Given the description of an element on the screen output the (x, y) to click on. 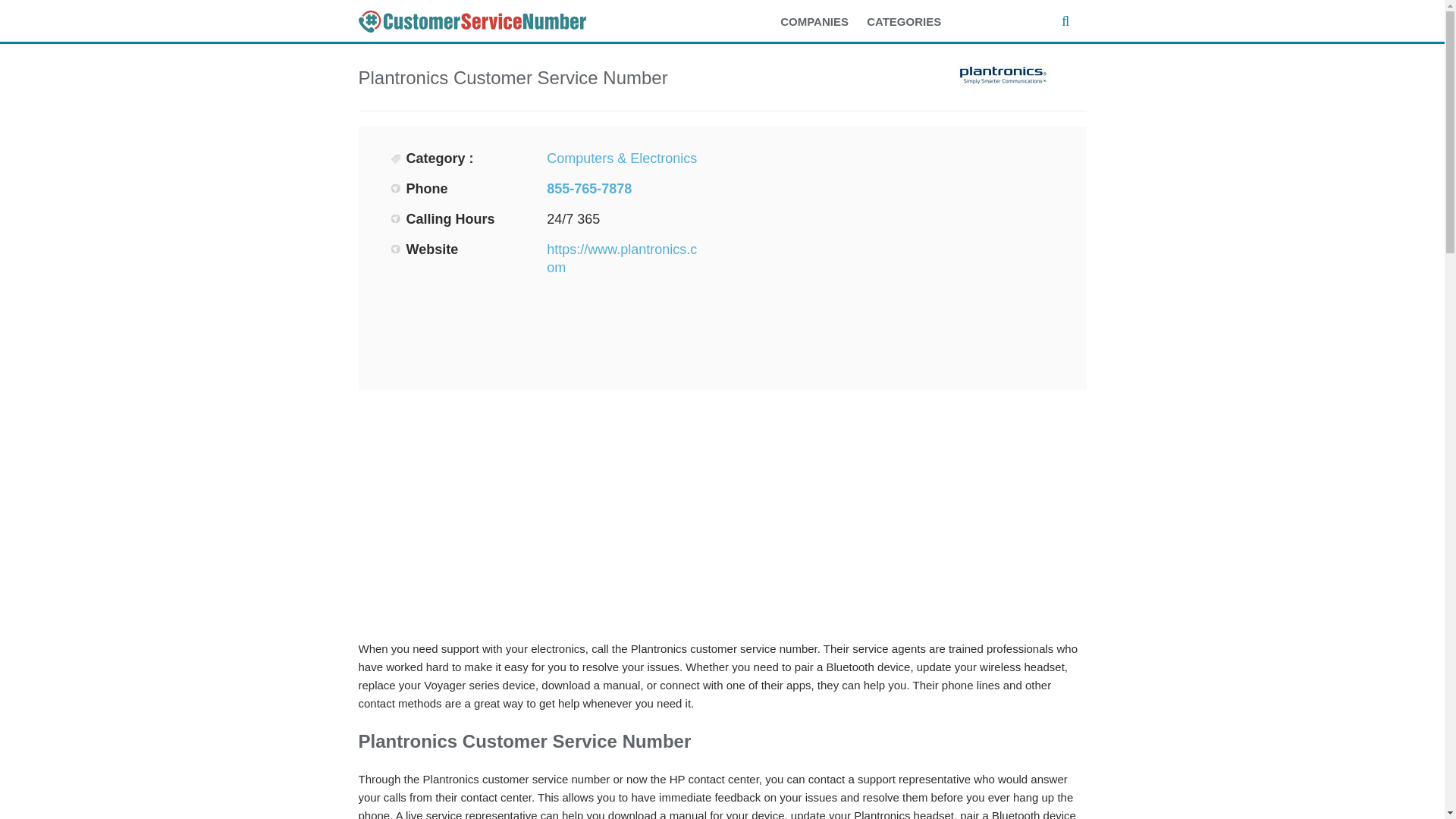
855-765-7878 (589, 188)
COMPANIES (821, 21)
Advertisement (892, 255)
CATEGORIES (911, 21)
